Given the description of an element on the screen output the (x, y) to click on. 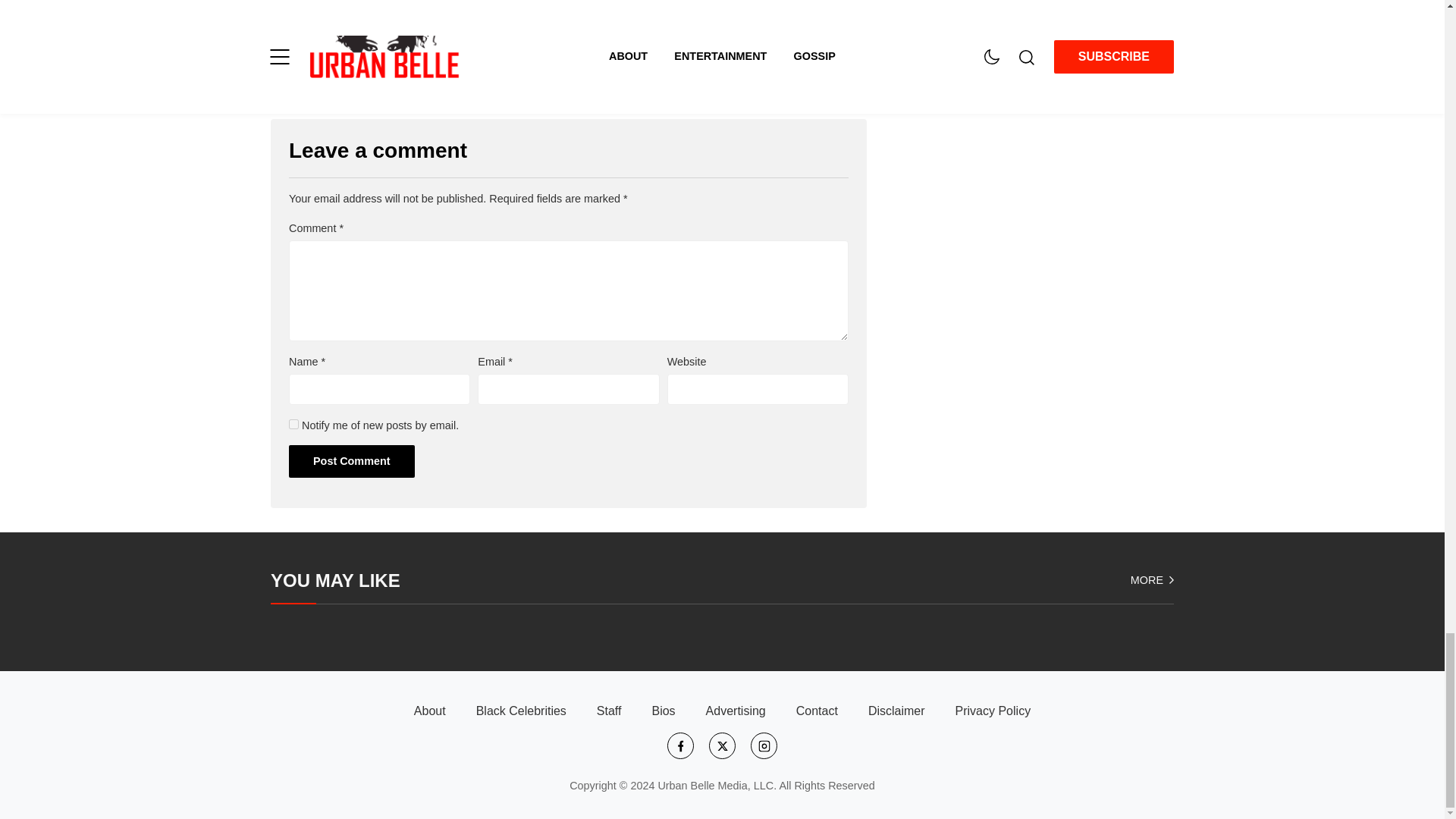
Post Comment (351, 460)
subscribe (293, 424)
